Given the description of an element on the screen output the (x, y) to click on. 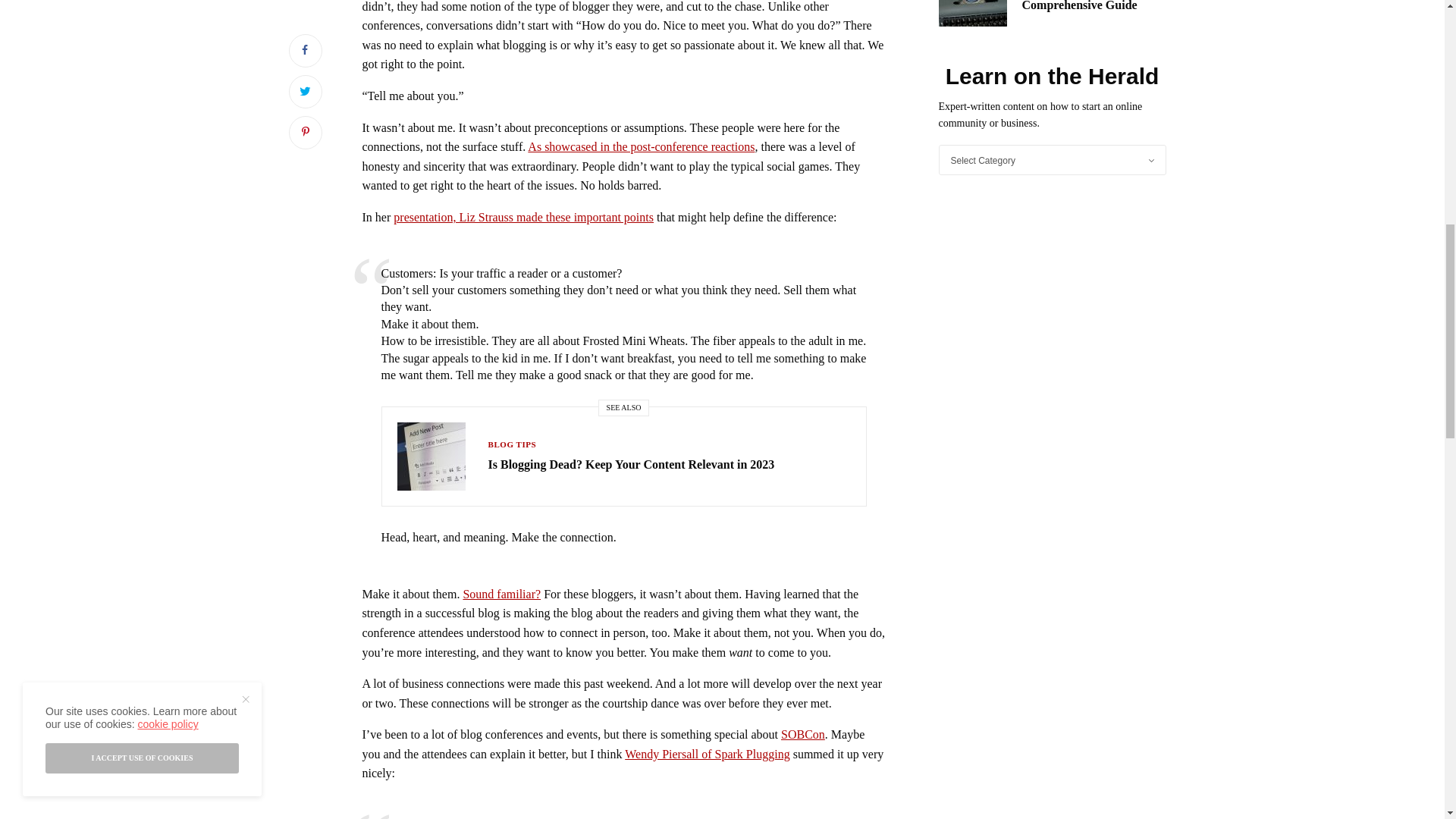
Is Blogging Dead? Keep Your Content Relevant in 2023 (630, 464)
As showcased in the post-conference reactions (640, 146)
Wendy Piersall - Spark Plugging (706, 753)
SOBCon08 Presentations Part 8 - Liz Strauss (523, 216)
Wendy Piersall of Spark Plugging (706, 753)
presentation, Liz Strauss made these important points (523, 216)
SOBCon (802, 734)
Sound familiar? (501, 594)
BLOG TIPS (512, 443)
Is Blogging Dead? Keep Your Content Relevant in 2023 (630, 464)
Blogging is Not About You (501, 594)
Connections and Community (640, 146)
SOBCon (802, 734)
